Given the description of an element on the screen output the (x, y) to click on. 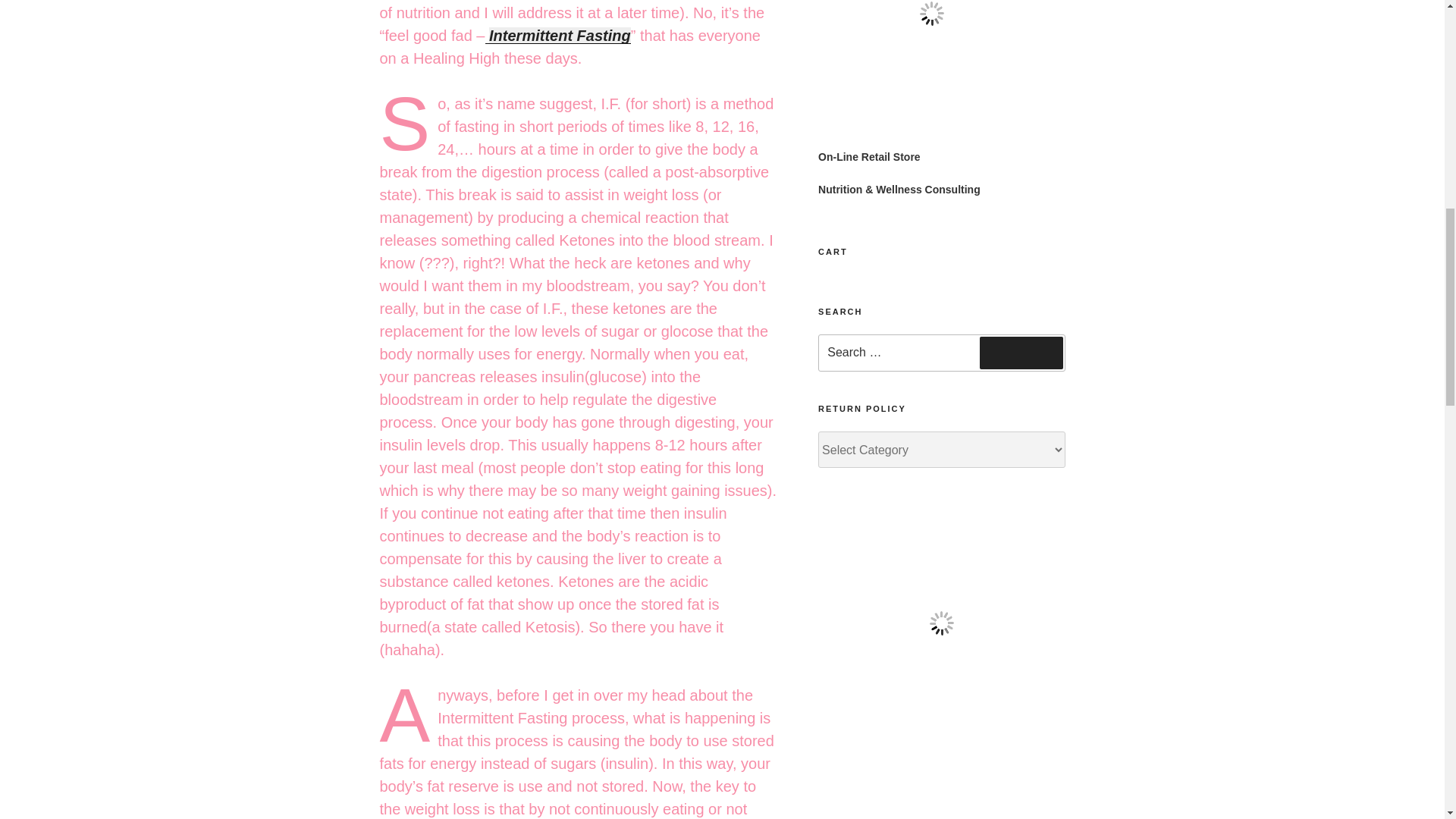
Intermittent Fasting (559, 35)
Search (1020, 352)
